Given the description of an element on the screen output the (x, y) to click on. 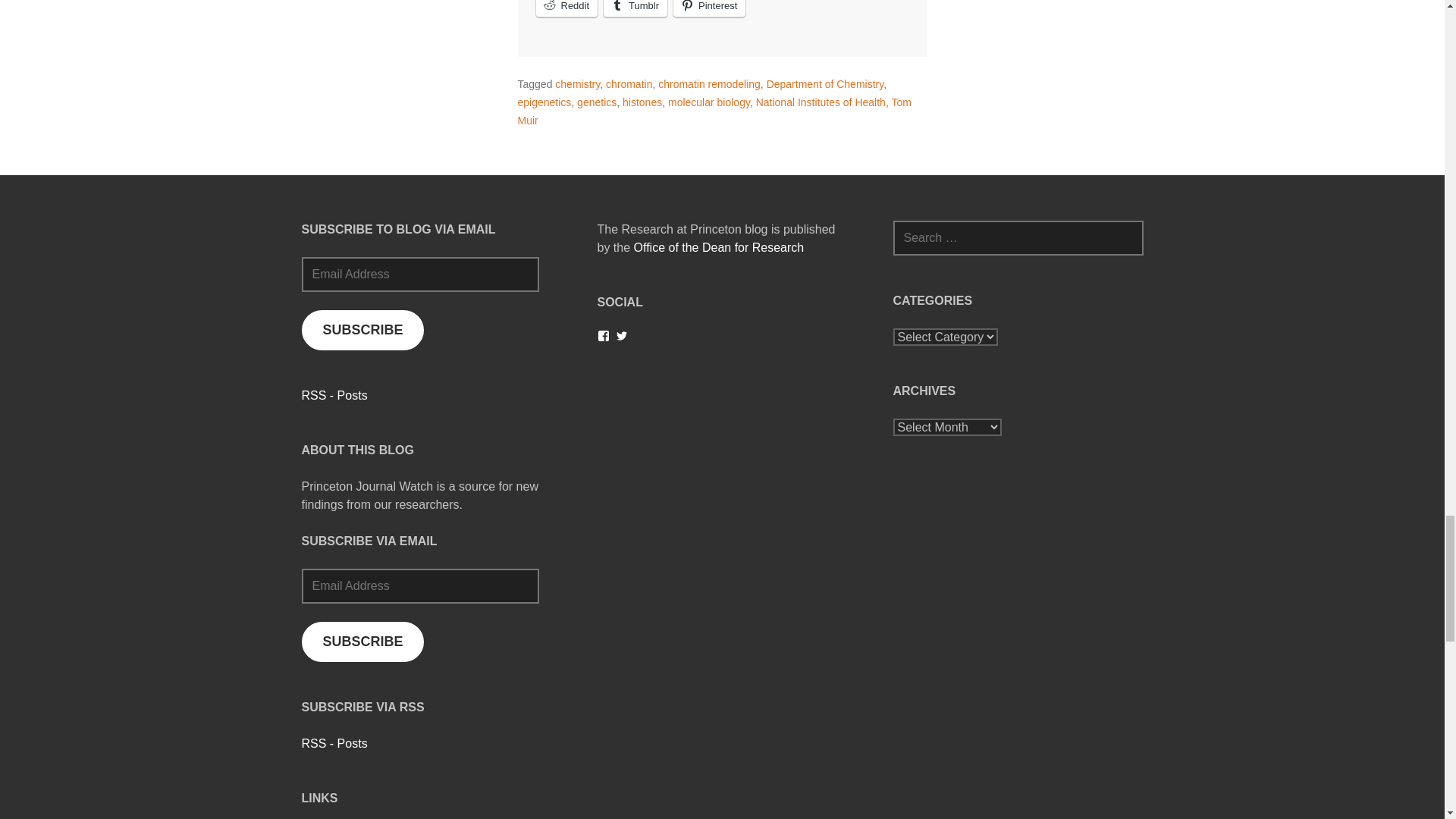
Subscribe to posts (334, 743)
RSS - Posts (334, 395)
Click to share on Pinterest (708, 8)
genetics (595, 102)
SUBSCRIBE (363, 641)
Pinterest (708, 8)
RSS - Posts (334, 743)
chromatin (628, 83)
histones (642, 102)
Click to share on Tumblr (635, 8)
